Given the description of an element on the screen output the (x, y) to click on. 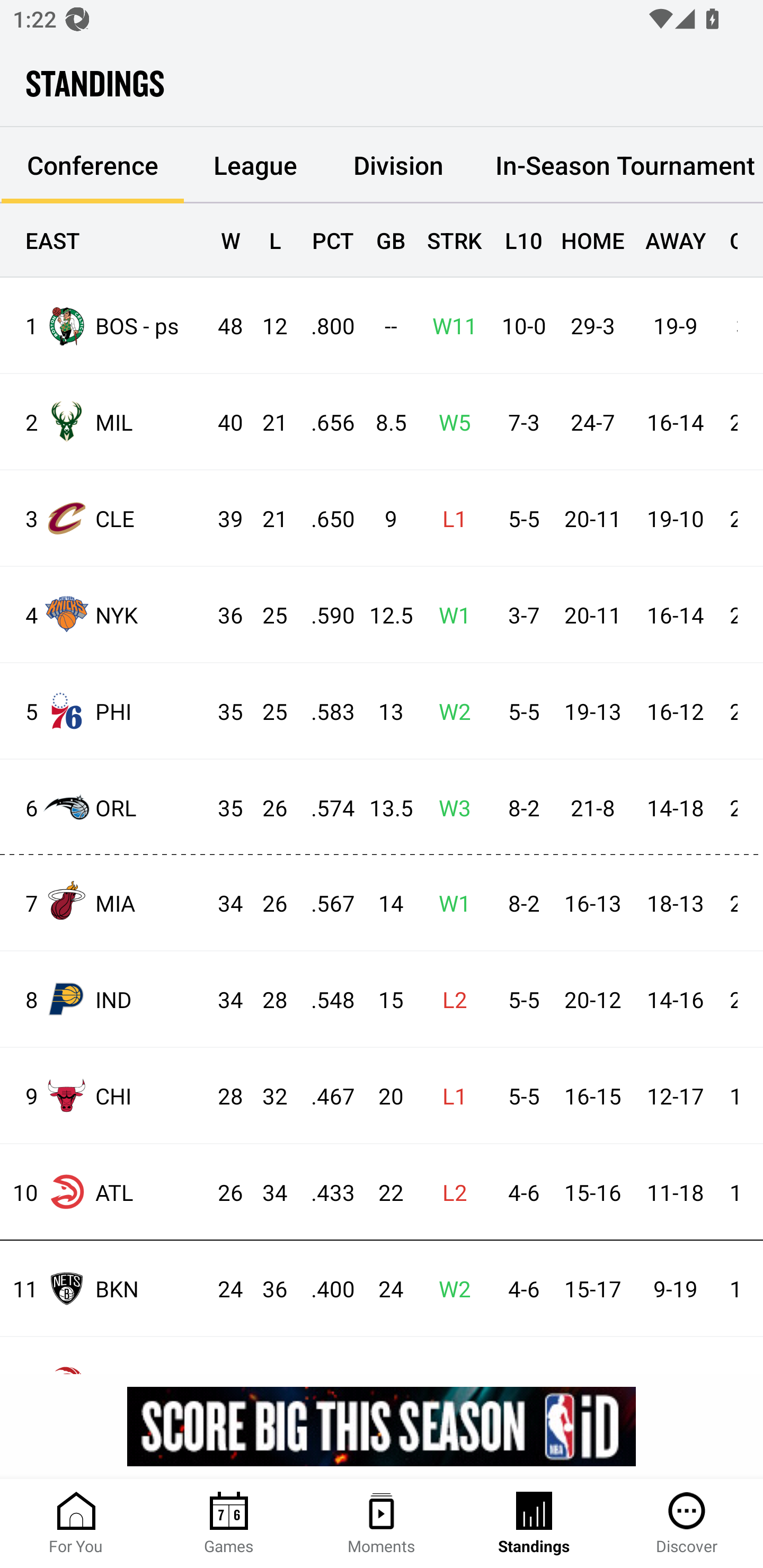
League (254, 165)
Division (398, 165)
In-Season Tournament (616, 165)
1 BOS - ps (104, 325)
2 MIL (104, 421)
3 CLE (104, 518)
4 NYK (104, 613)
5 PHI (104, 710)
6 ORL (104, 806)
7 MIA (104, 902)
8 IND (104, 999)
9 CHI (104, 1095)
10 ATL (104, 1192)
11 BKN (104, 1287)
For You (76, 1523)
Games (228, 1523)
Moments (381, 1523)
Discover (686, 1523)
